Given the description of an element on the screen output the (x, y) to click on. 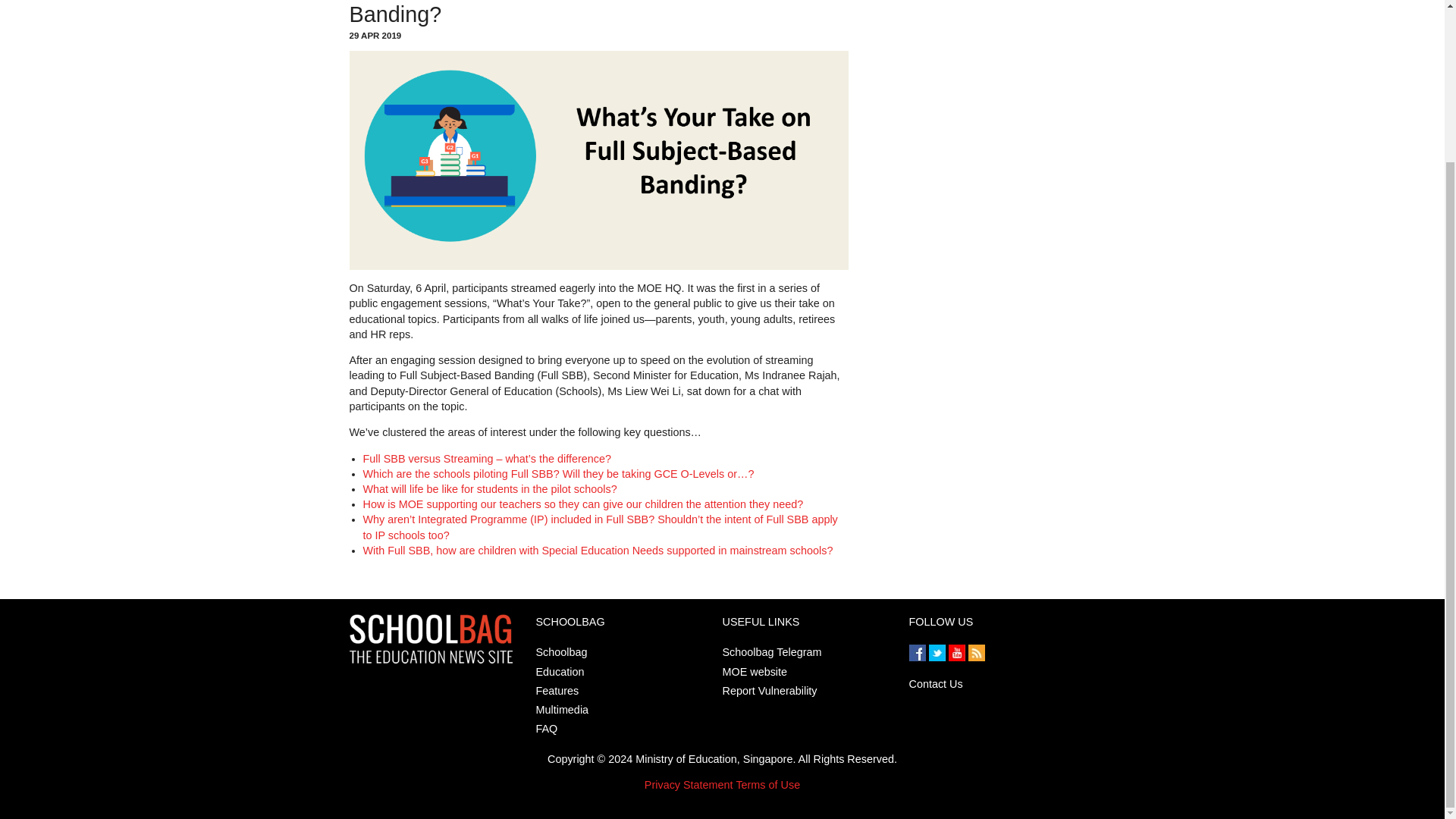
Twitter (937, 657)
Ful (369, 458)
RSS (976, 657)
Facebook (918, 657)
Youtube (957, 657)
What will life be like for students in the pilot schools? (488, 489)
